Given the description of an element on the screen output the (x, y) to click on. 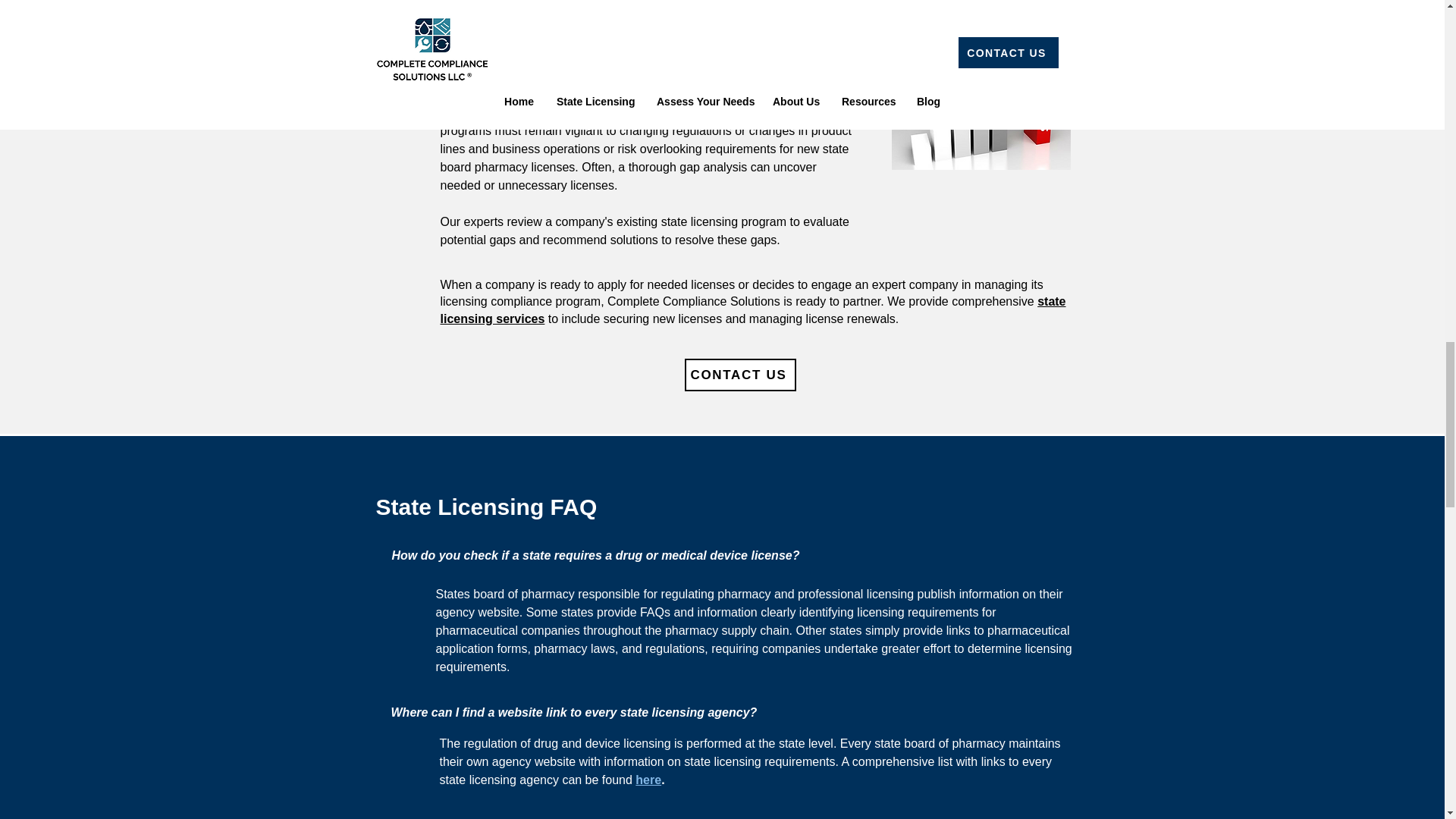
here (647, 779)
state licensing services (752, 309)
CONTACT US (739, 374)
